Given the description of an element on the screen output the (x, y) to click on. 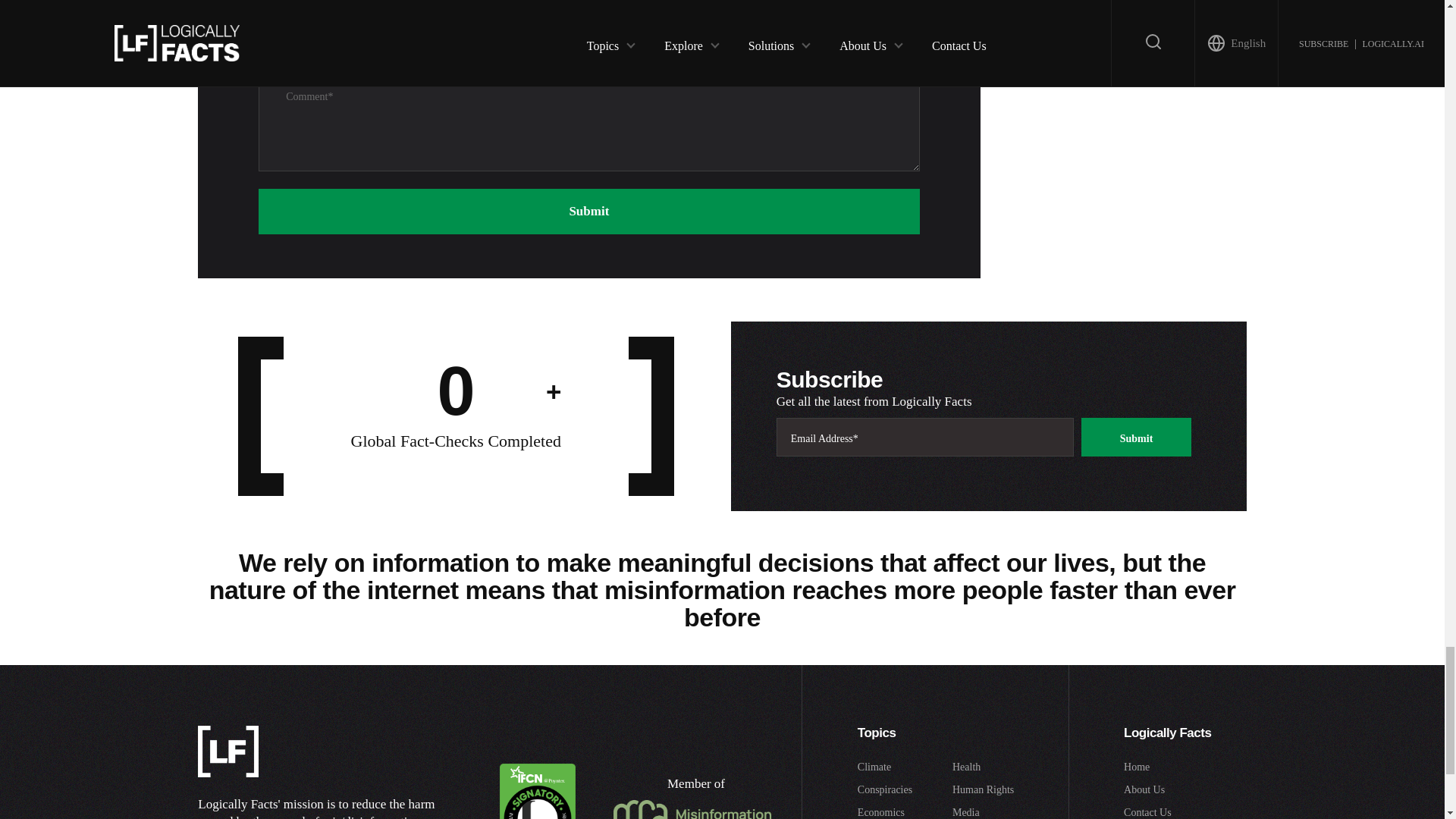
Submit (588, 211)
Submit (1136, 436)
